Given the description of an element on the screen output the (x, y) to click on. 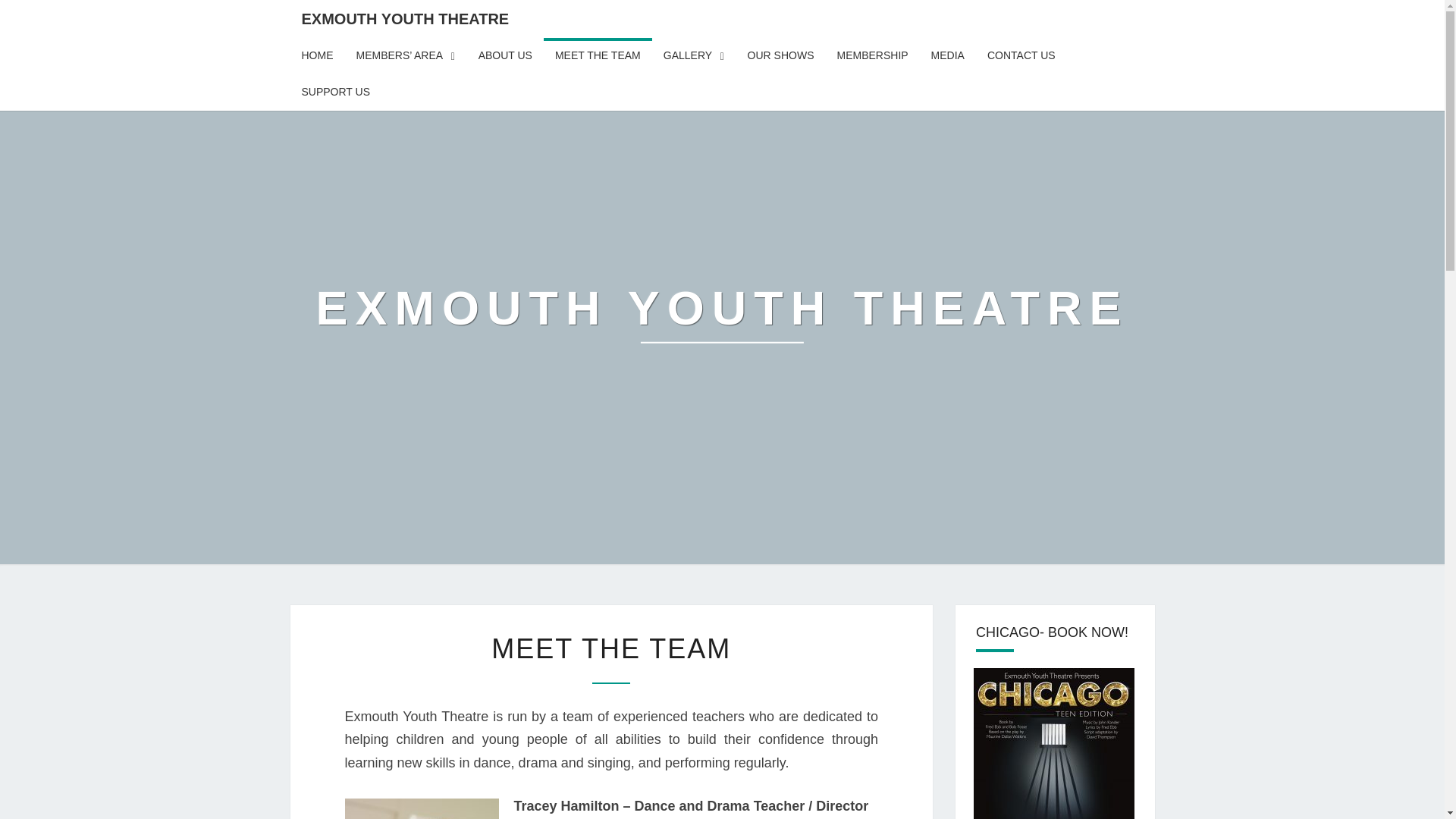
MEDIA (947, 55)
CONTACT US (1021, 55)
SUPPORT US (335, 92)
Exmouth Youth Theatre (721, 318)
GALLERY (694, 55)
OUR SHOWS (780, 55)
EXMOUTH YOUTH THEATRE (721, 318)
EXMOUTH YOUTH THEATRE (404, 18)
ABOUT US (505, 55)
MEET THE TEAM (597, 55)
HOME (316, 55)
MEMBERSHIP (871, 55)
SCHOOL OF ROCK - JUNE 2023 - BOOK NOW! (1054, 743)
